Given the description of an element on the screen output the (x, y) to click on. 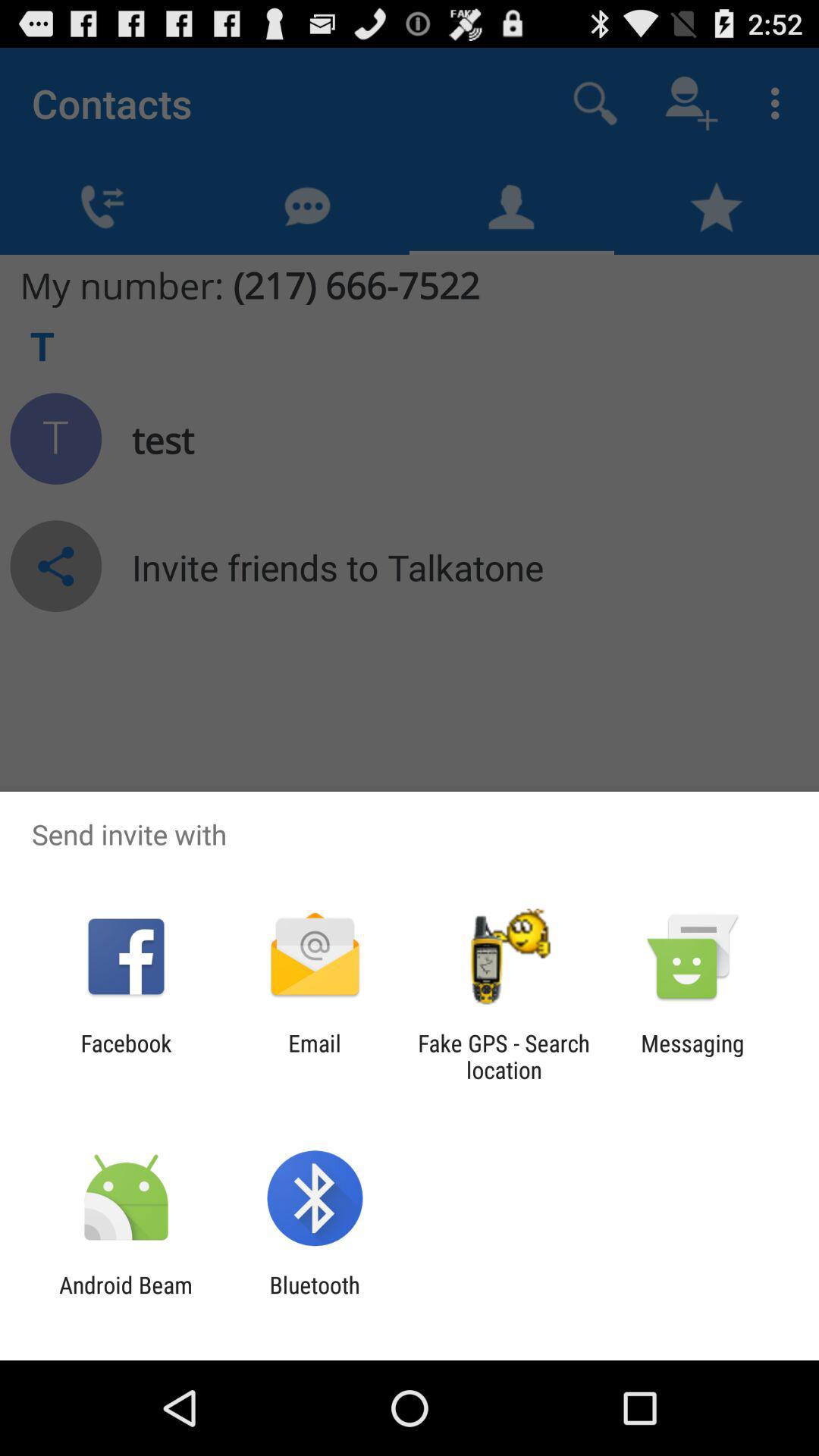
click app next to messaging app (503, 1056)
